Given the description of an element on the screen output the (x, y) to click on. 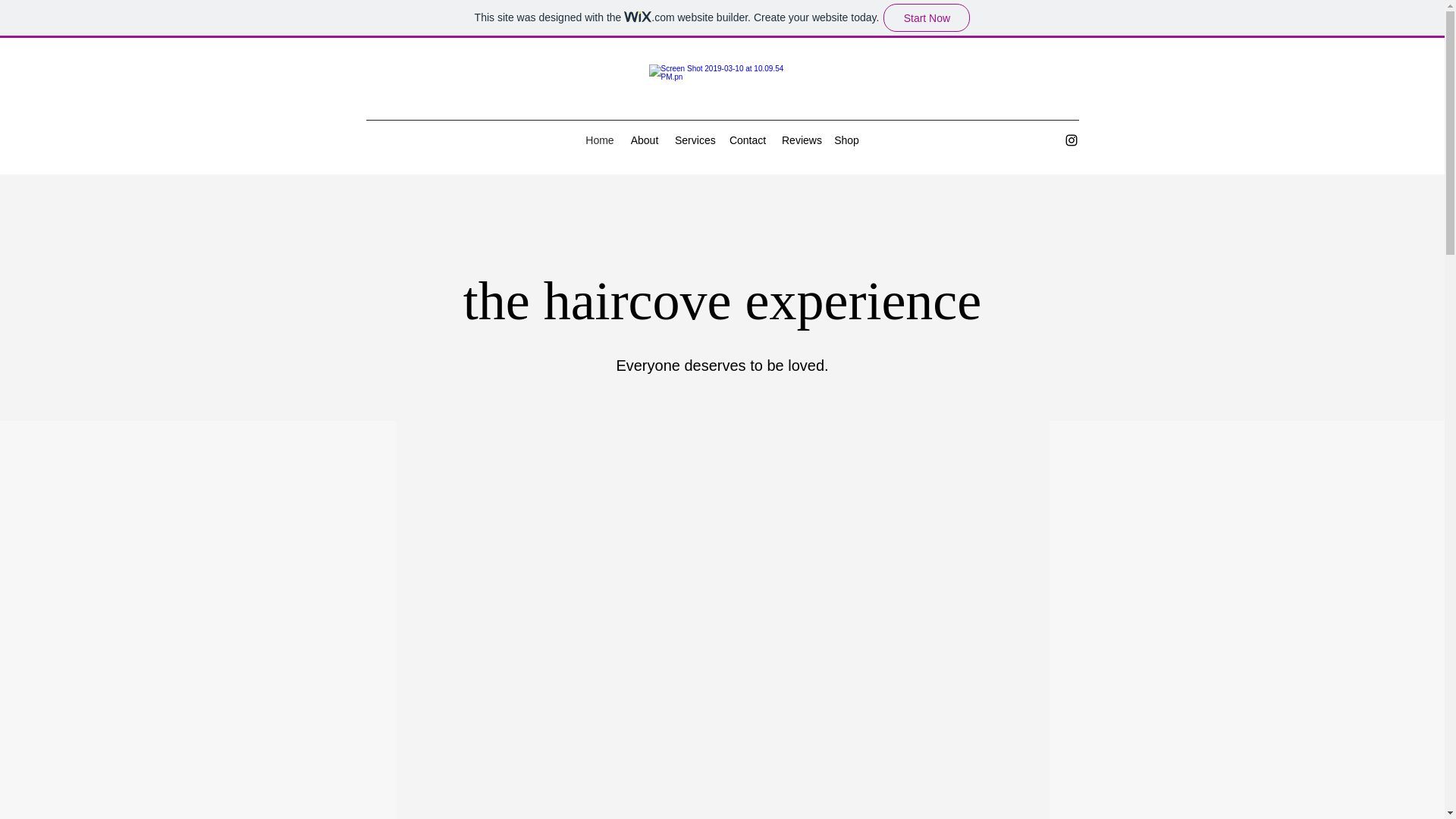
Home (599, 139)
Contact (747, 139)
Services (693, 139)
About (643, 139)
Shop (846, 139)
Reviews (800, 139)
